Given the description of an element on the screen output the (x, y) to click on. 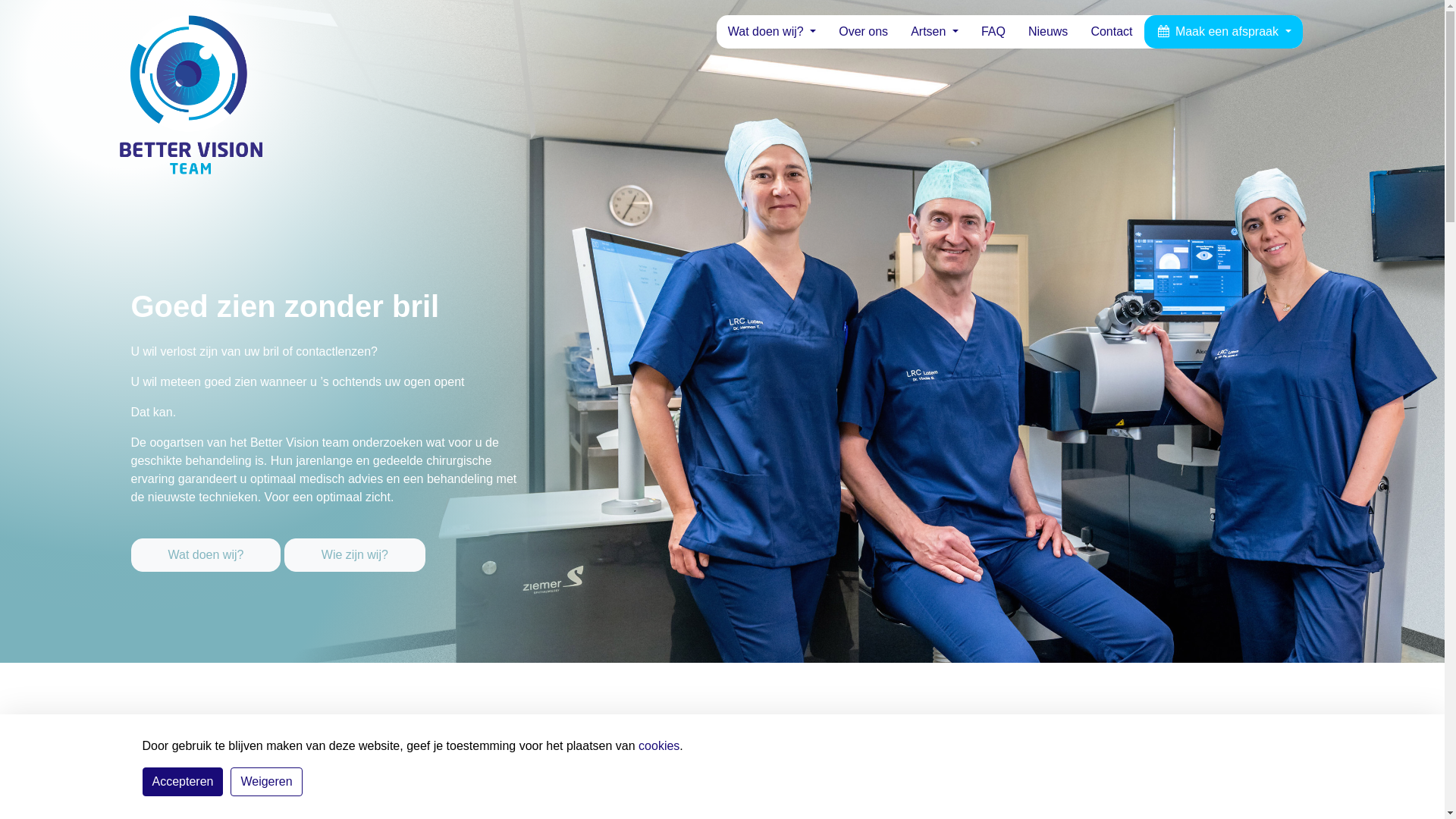
Artsen Element type: text (934, 31)
Wat doen wij? Element type: text (206, 543)
Wie zijn wij? Element type: text (354, 554)
Wat doen wij? Element type: text (205, 554)
Wie zijn wij? Element type: text (354, 543)
Weigeren Element type: text (265, 781)
FAQ Element type: text (992, 31)
Wat doen wij? Element type: text (771, 31)
Over ons Element type: text (863, 31)
Contact Element type: text (1111, 31)
cookies Element type: text (658, 745)
Maak een afspraak Element type: text (1223, 31)
Accepteren Element type: text (182, 781)
Nieuws Element type: text (1047, 31)
